Given the description of an element on the screen output the (x, y) to click on. 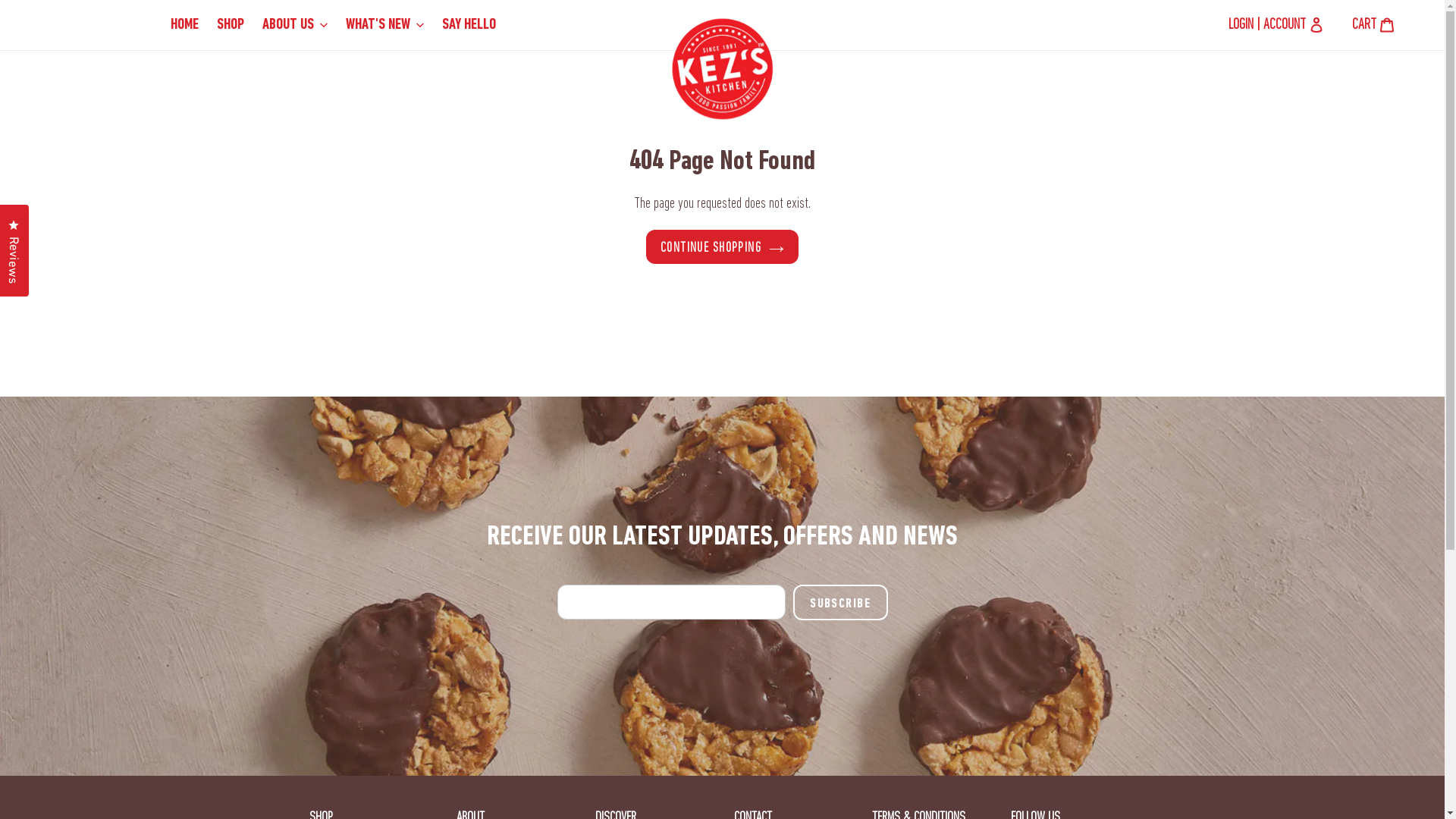
WHAT'S NEW Element type: text (384, 24)
SHOP Element type: text (230, 24)
LOGIN | ACCOUNT Element type: text (1266, 24)
SUBSCRIBE Element type: text (840, 602)
CONTINUE SHOPPING Element type: text (722, 246)
HOME Element type: text (184, 24)
CART Element type: text (1372, 24)
SAY HELLO Element type: text (468, 24)
ABOUT US Element type: text (294, 24)
